Given the description of an element on the screen output the (x, y) to click on. 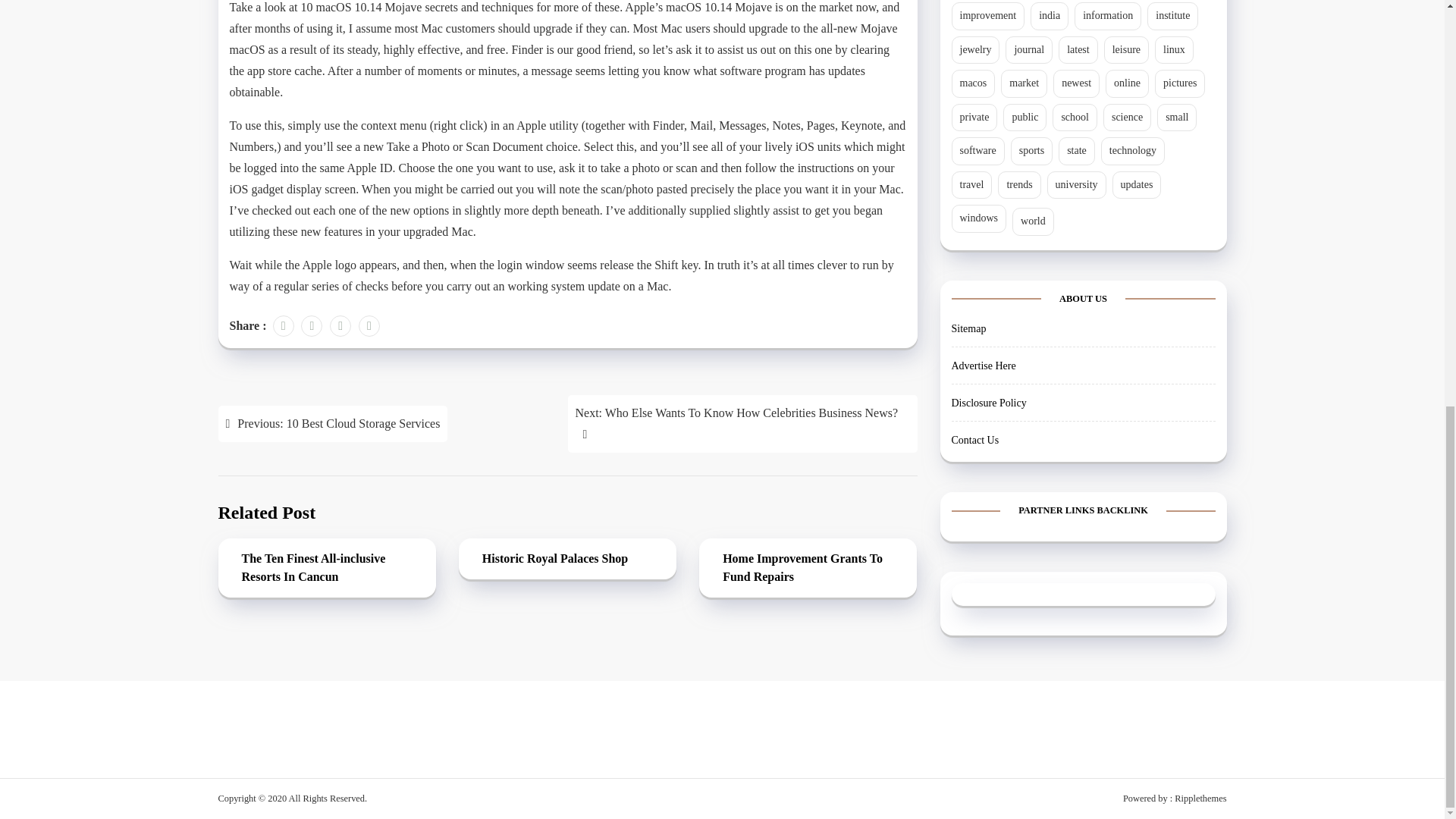
Next: Who Else Wants To Know How Celebrities Business News? (742, 423)
Historic Royal Palaces Shop (566, 560)
Home Improvement Grants To Fund Repairs (807, 569)
The Ten Finest All-inclusive Resorts In Cancun (326, 569)
Previous: 10 Best Cloud Storage Services (333, 423)
